Given the description of an element on the screen output the (x, y) to click on. 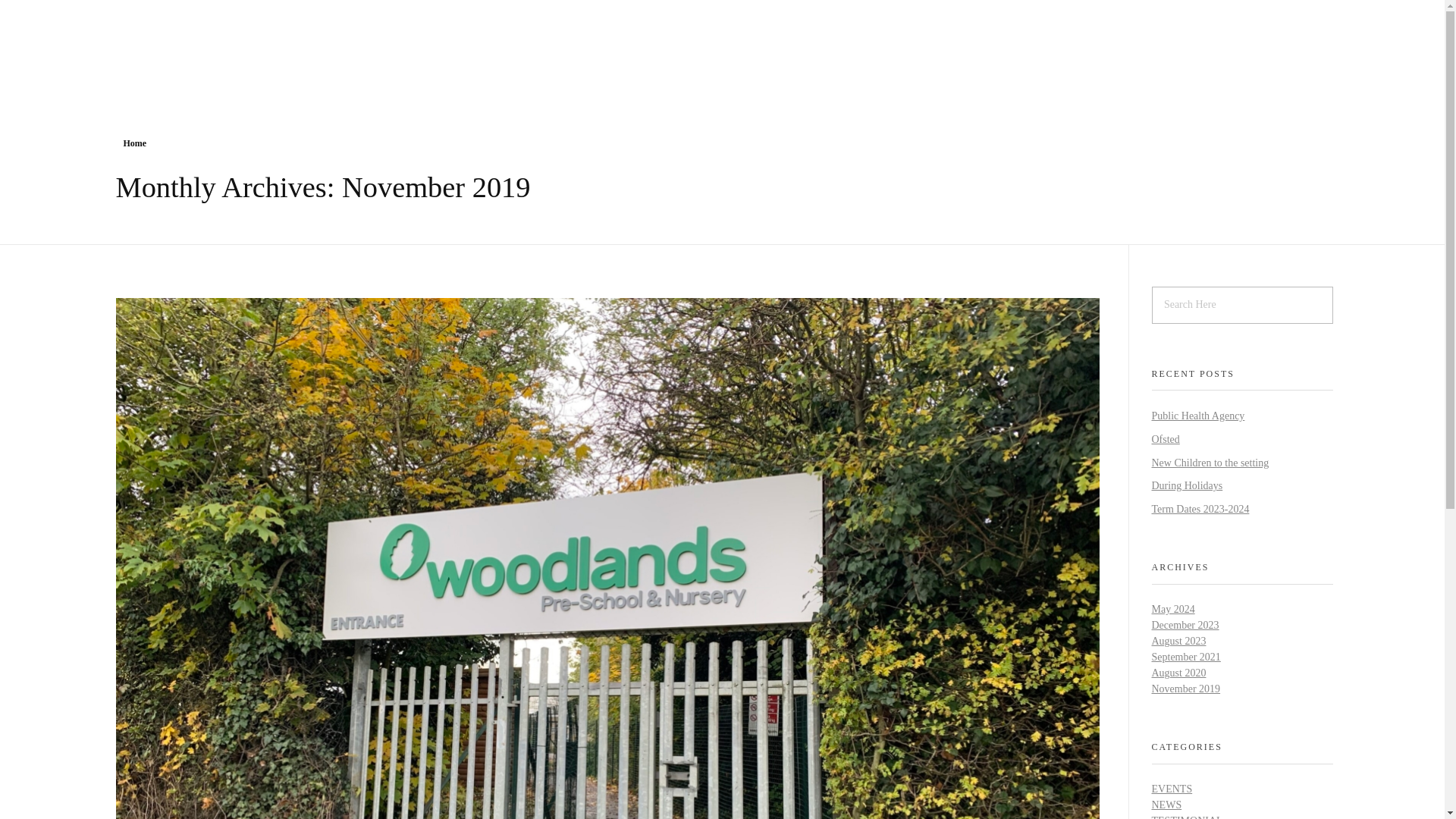
Search (42, 13)
August 2023 (1178, 641)
New Children to the setting (1209, 461)
Ofsted (1165, 439)
December 2023 (1184, 624)
During Holidays (1187, 485)
Home (134, 143)
EVENTS (1171, 788)
May 2024 (1172, 609)
Home (134, 143)
